Given the description of an element on the screen output the (x, y) to click on. 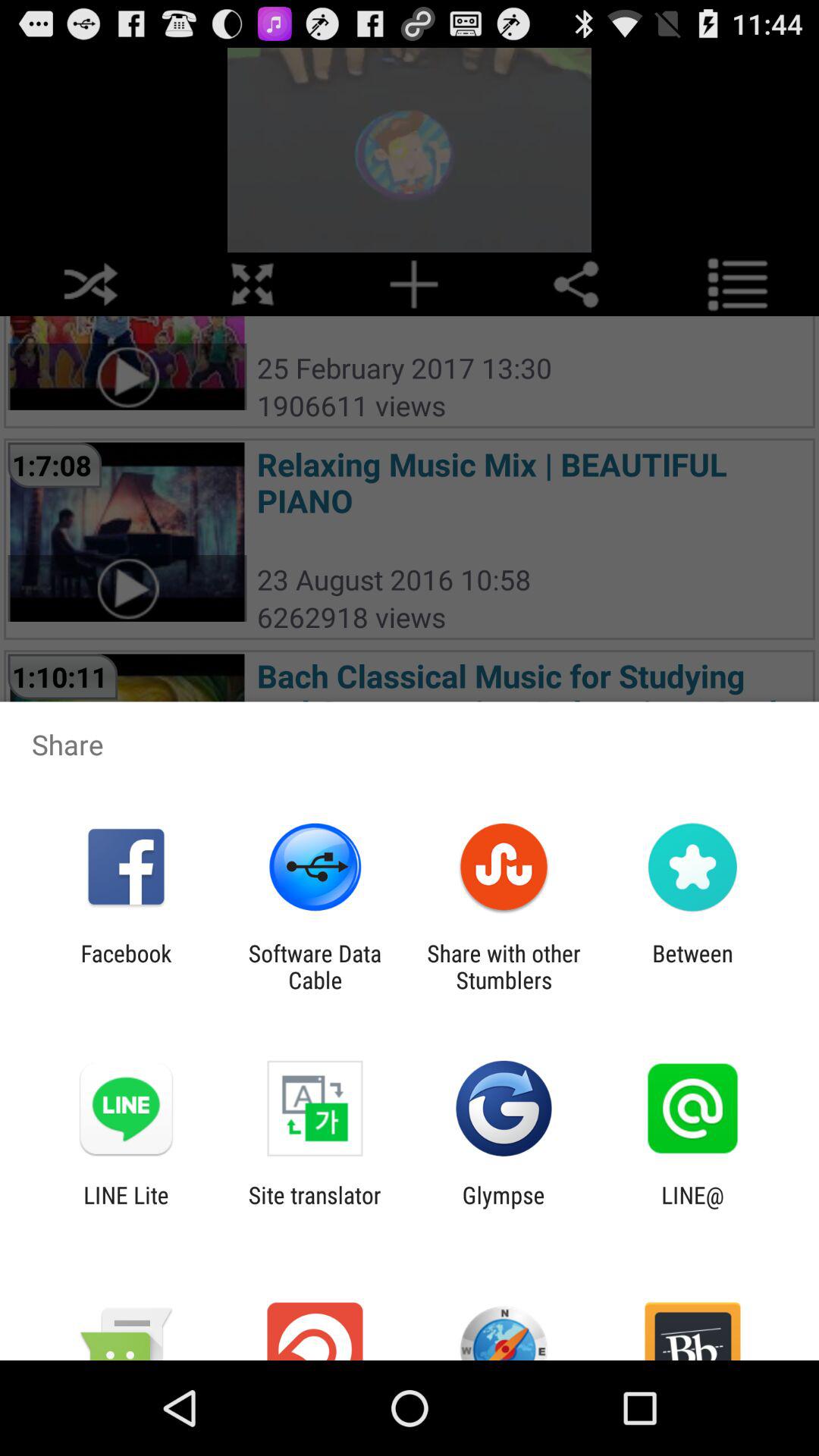
launch icon next to between app (503, 966)
